Given the description of an element on the screen output the (x, y) to click on. 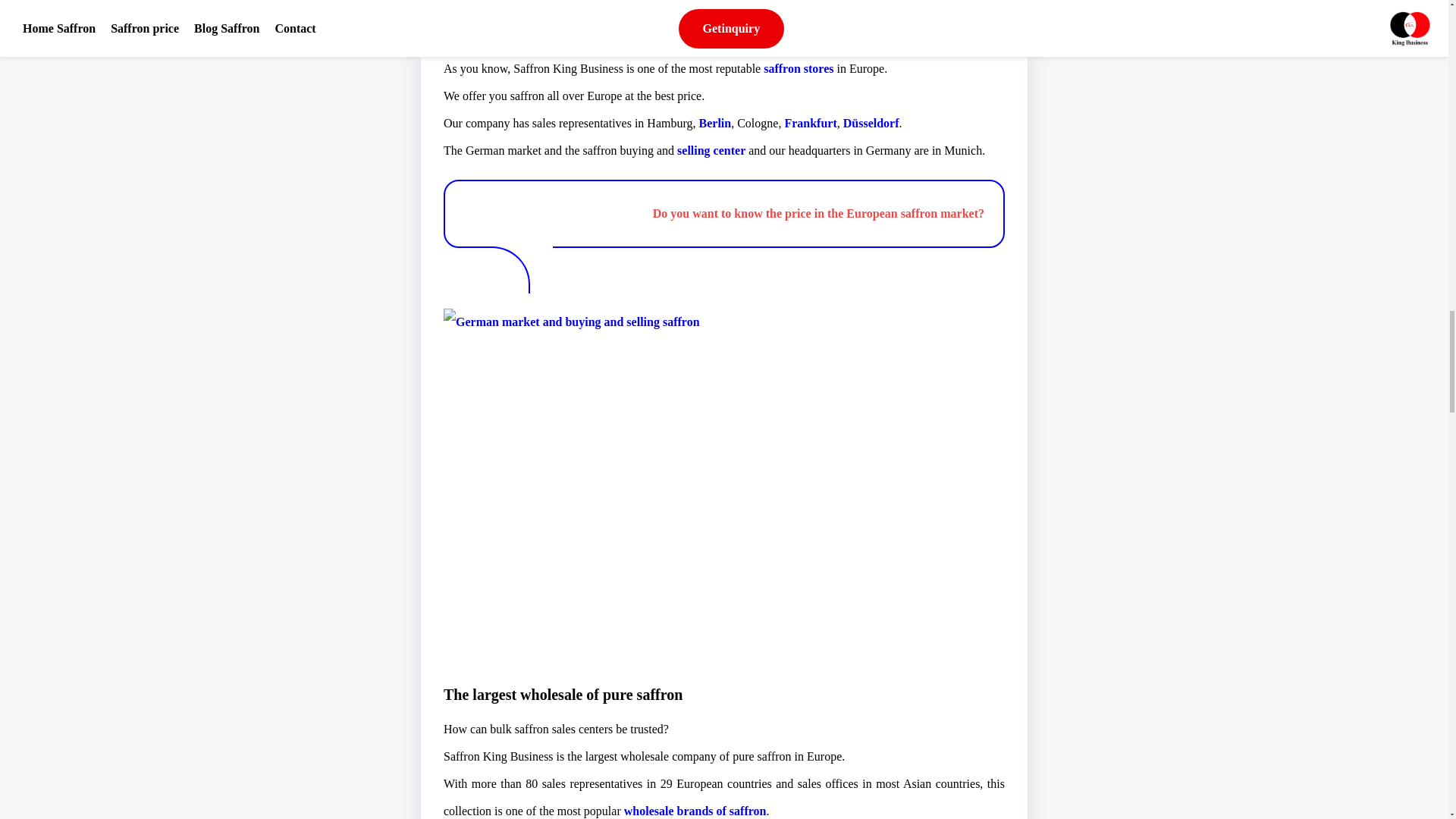
selling center (711, 150)
saffron stores (797, 68)
wholesale brands of saffron (695, 810)
Frankfurt (809, 123)
price of bulk saffron (545, 41)
Berlin (715, 123)
